Given the description of an element on the screen output the (x, y) to click on. 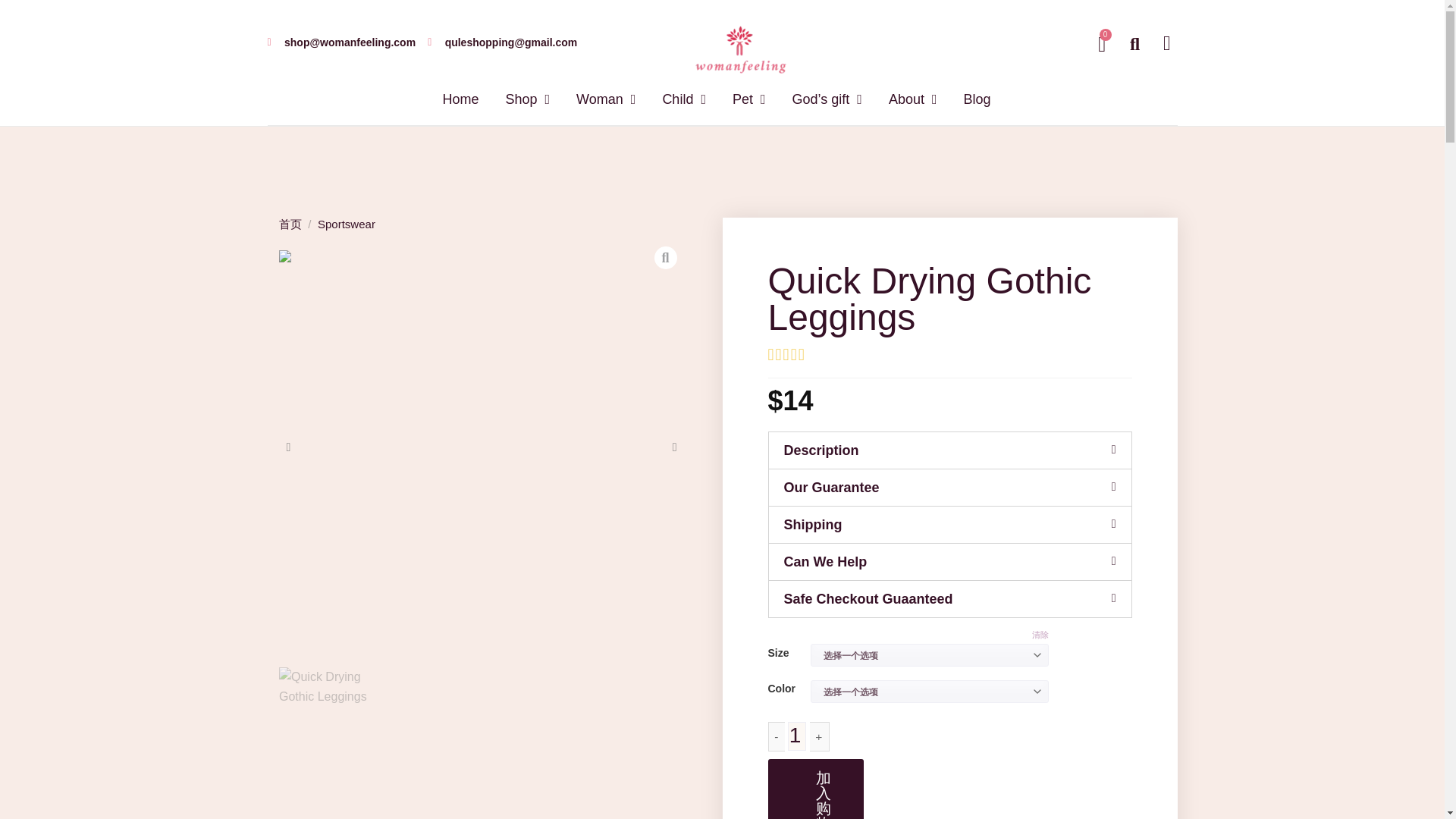
Quick Drying Gothic Leggings (336, 724)
